Given the description of an element on the screen output the (x, y) to click on. 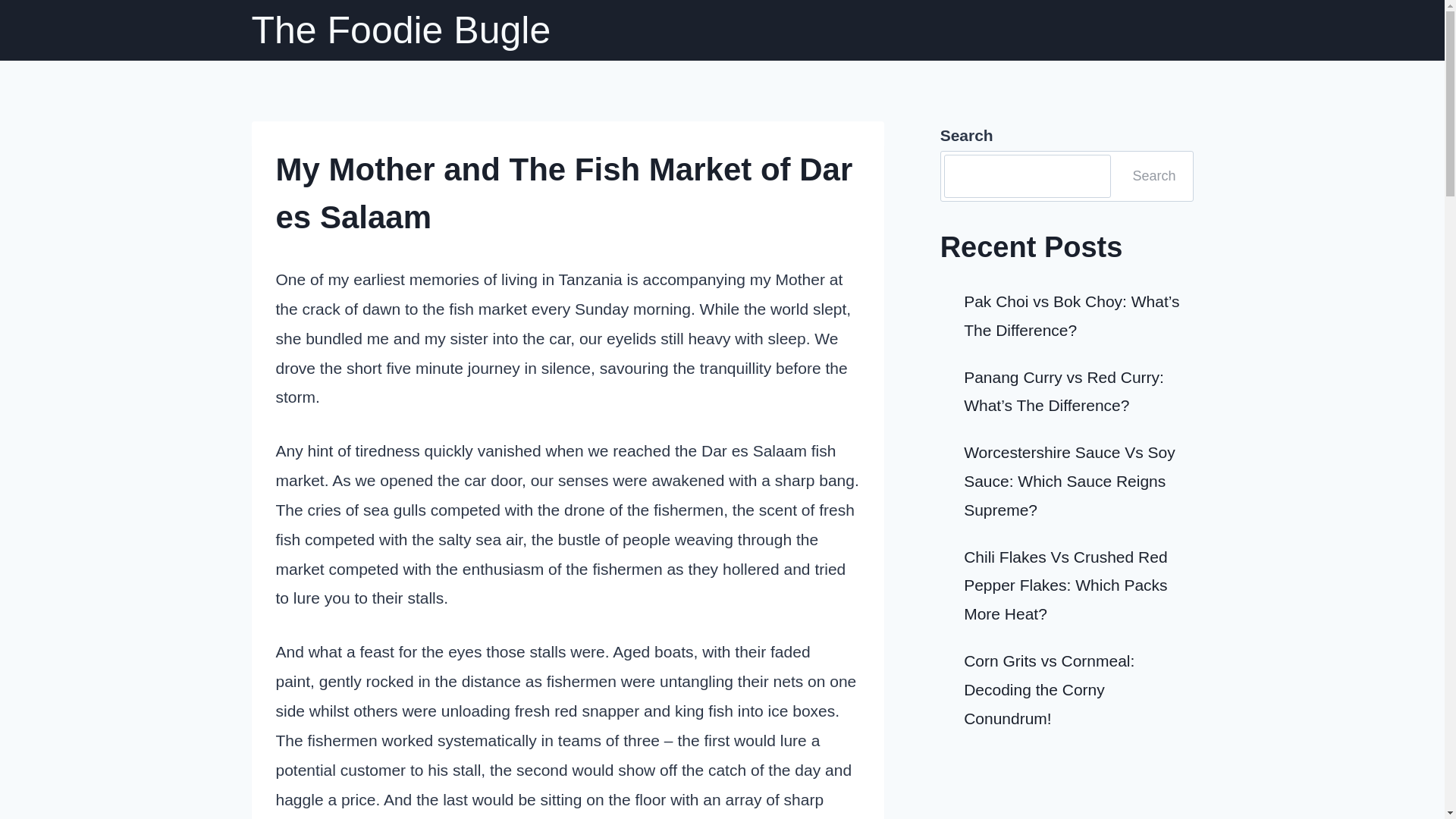
The Foodie Bugle (401, 30)
Search (1153, 176)
Corn Grits vs Cornmeal: Decoding the Corny Conundrum! (1048, 689)
